Given the description of an element on the screen output the (x, y) to click on. 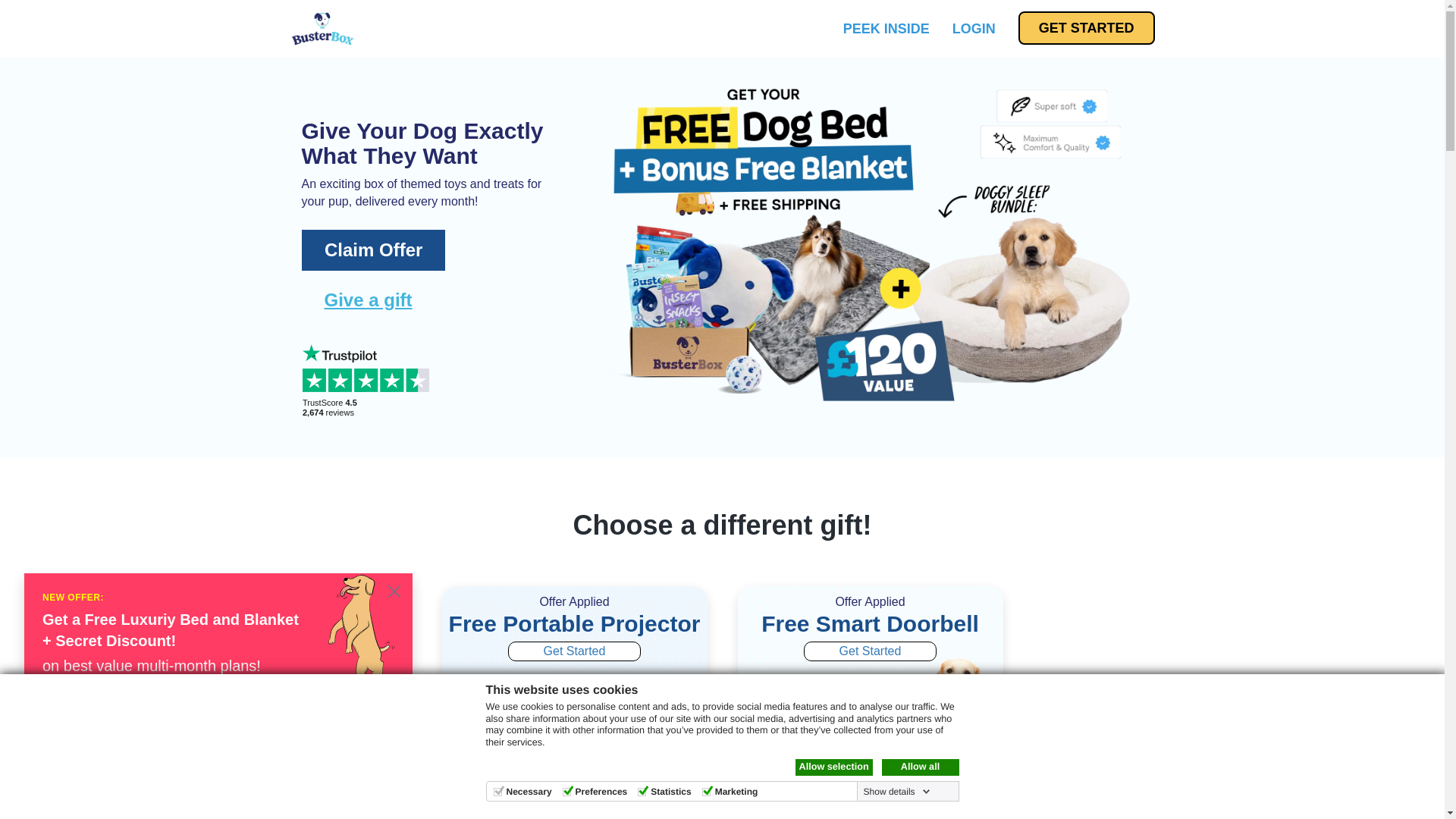
Allow selection (833, 767)
Allow all (919, 767)
Show details (896, 791)
